Given the description of an element on the screen output the (x, y) to click on. 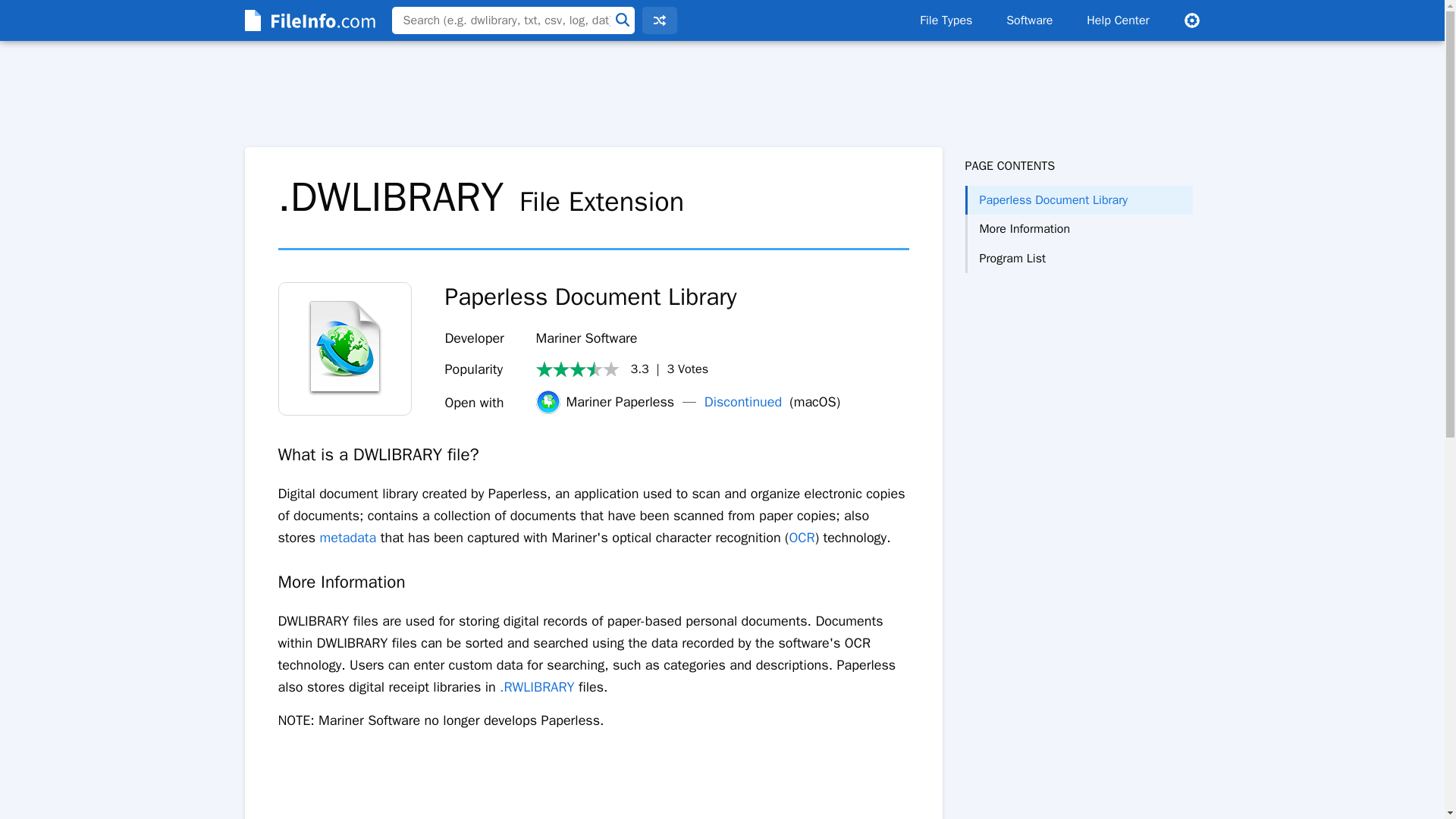
3rd party ad content (721, 93)
3rd party ad content (1077, 333)
.RWLIBRARY (537, 686)
3rd party ad content (592, 788)
metadata (348, 537)
Paperless Document Library (1077, 199)
More Information (1077, 228)
Program List (1077, 258)
Random (659, 20)
Mariner Paperless 1 Icon (344, 348)
Software (1029, 20)
Discontinued (742, 401)
File Types (945, 20)
Help Center (1117, 20)
